Given the description of an element on the screen output the (x, y) to click on. 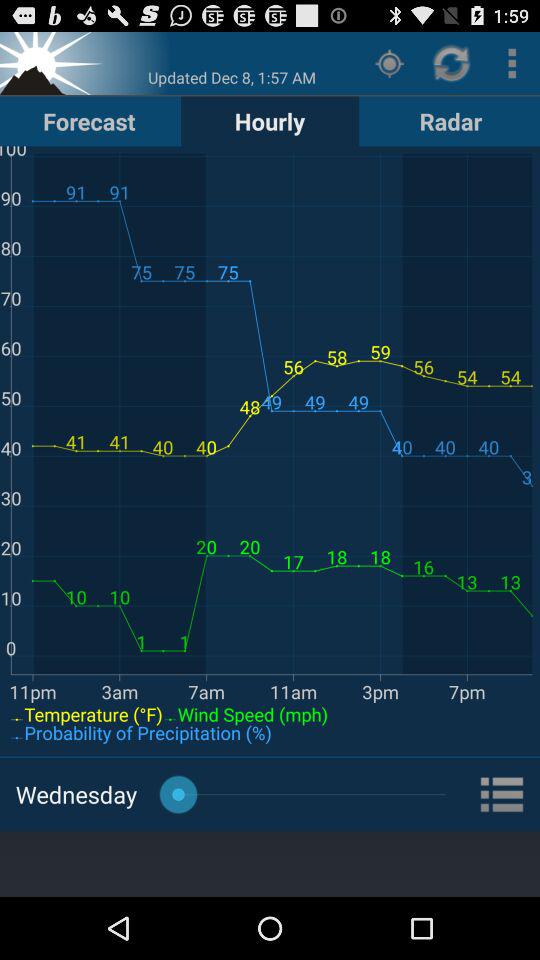
choose the item to the right of hourly (389, 62)
